Given the description of an element on the screen output the (x, y) to click on. 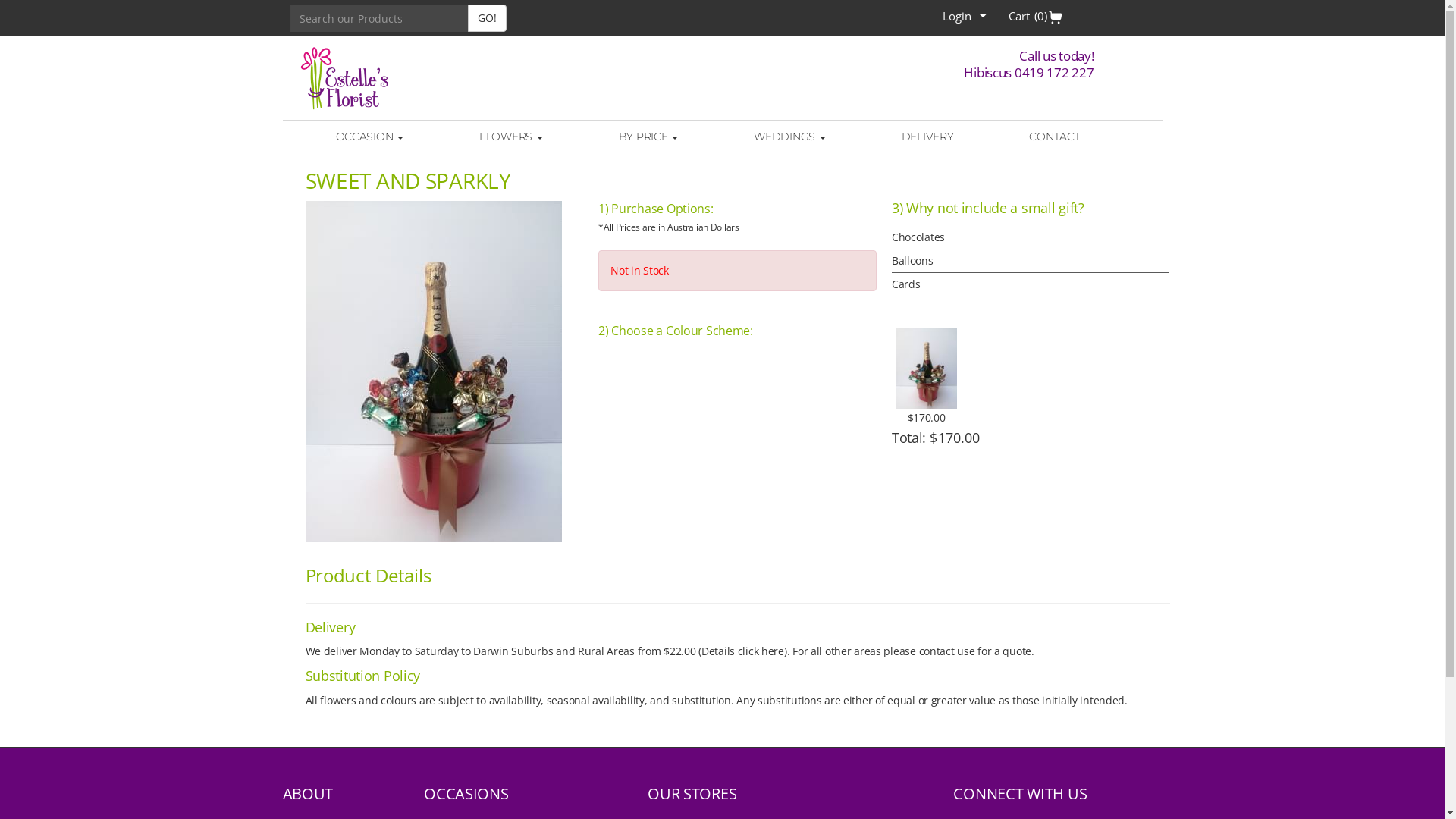
BY PRICE Element type: text (647, 136)
OCCASION Element type: text (368, 136)
Chocolates Element type: text (1030, 237)
Cart(0) Element type: text (1035, 15)
Login Element type: text (964, 15)
Cards Element type: text (1030, 284)
DELIVERY Element type: text (927, 136)
Details click here Element type: text (742, 650)
WEDDINGS Element type: text (788, 136)
Balloons Element type: text (1030, 260)
contact use for a quote Element type: text (975, 650)
Sweet and Sparkly Element type: hover (443, 371)
FLOWERS Element type: text (510, 136)
CONTACT Element type: text (1054, 136)
GO! Element type: text (486, 17)
